Given the description of an element on the screen output the (x, y) to click on. 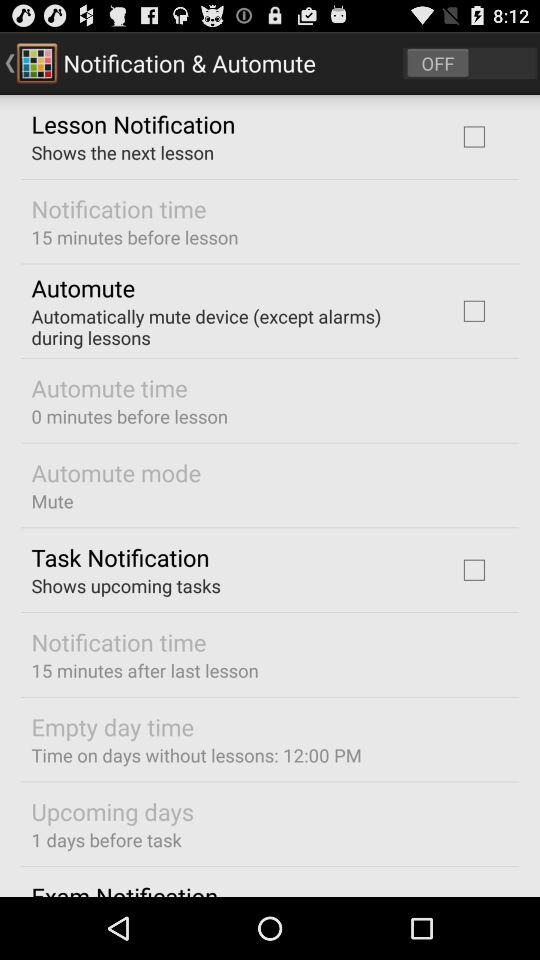
turn on app above the exam notification (106, 839)
